Given the description of an element on the screen output the (x, y) to click on. 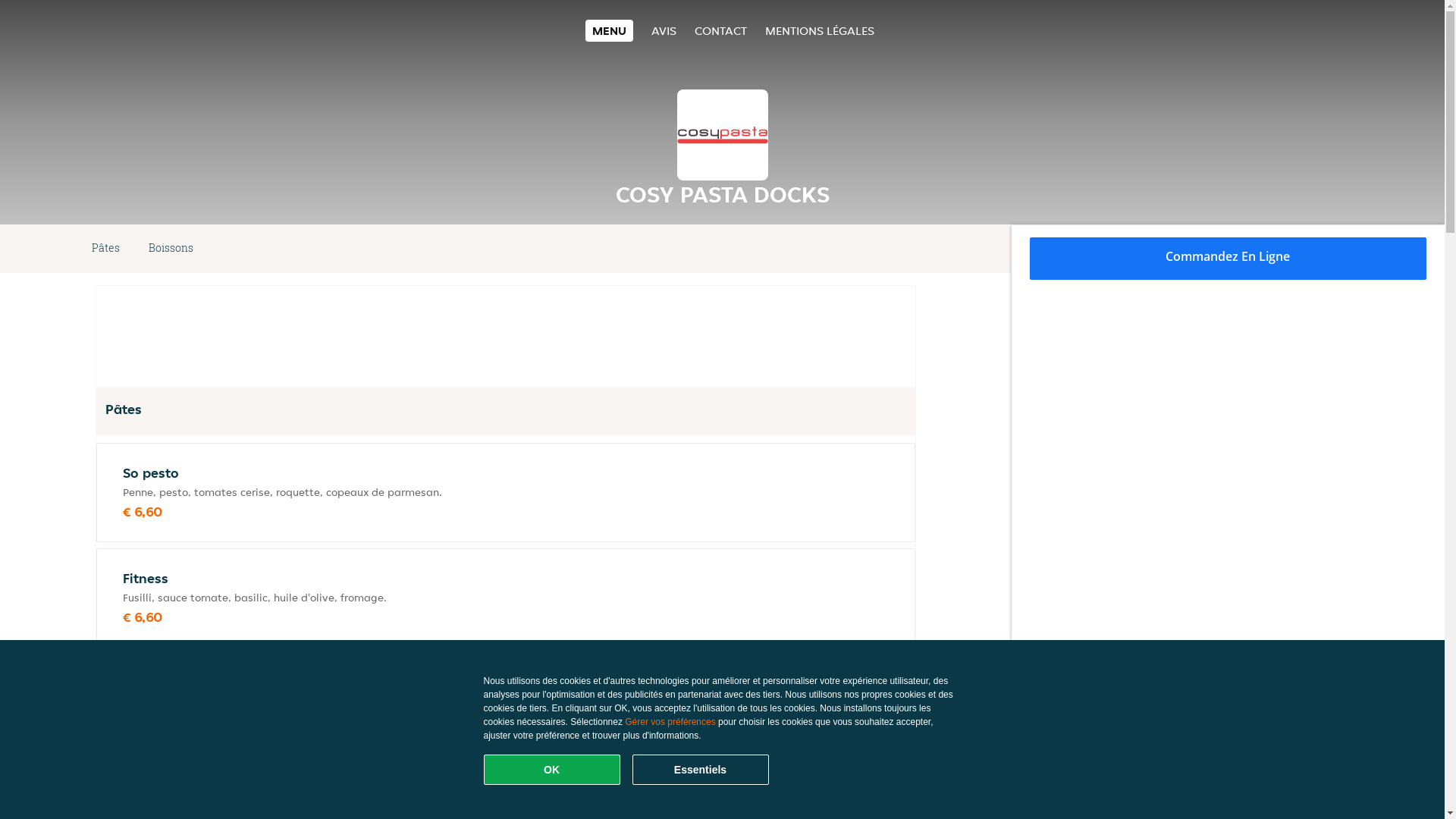
CONTACT Element type: text (720, 30)
OK Element type: text (551, 769)
AVIS Element type: text (663, 30)
Commandez En Ligne Element type: text (1228, 258)
Essentiels Element type: text (700, 769)
Boissons Element type: text (170, 248)
MENU Element type: text (609, 30)
